Given the description of an element on the screen output the (x, y) to click on. 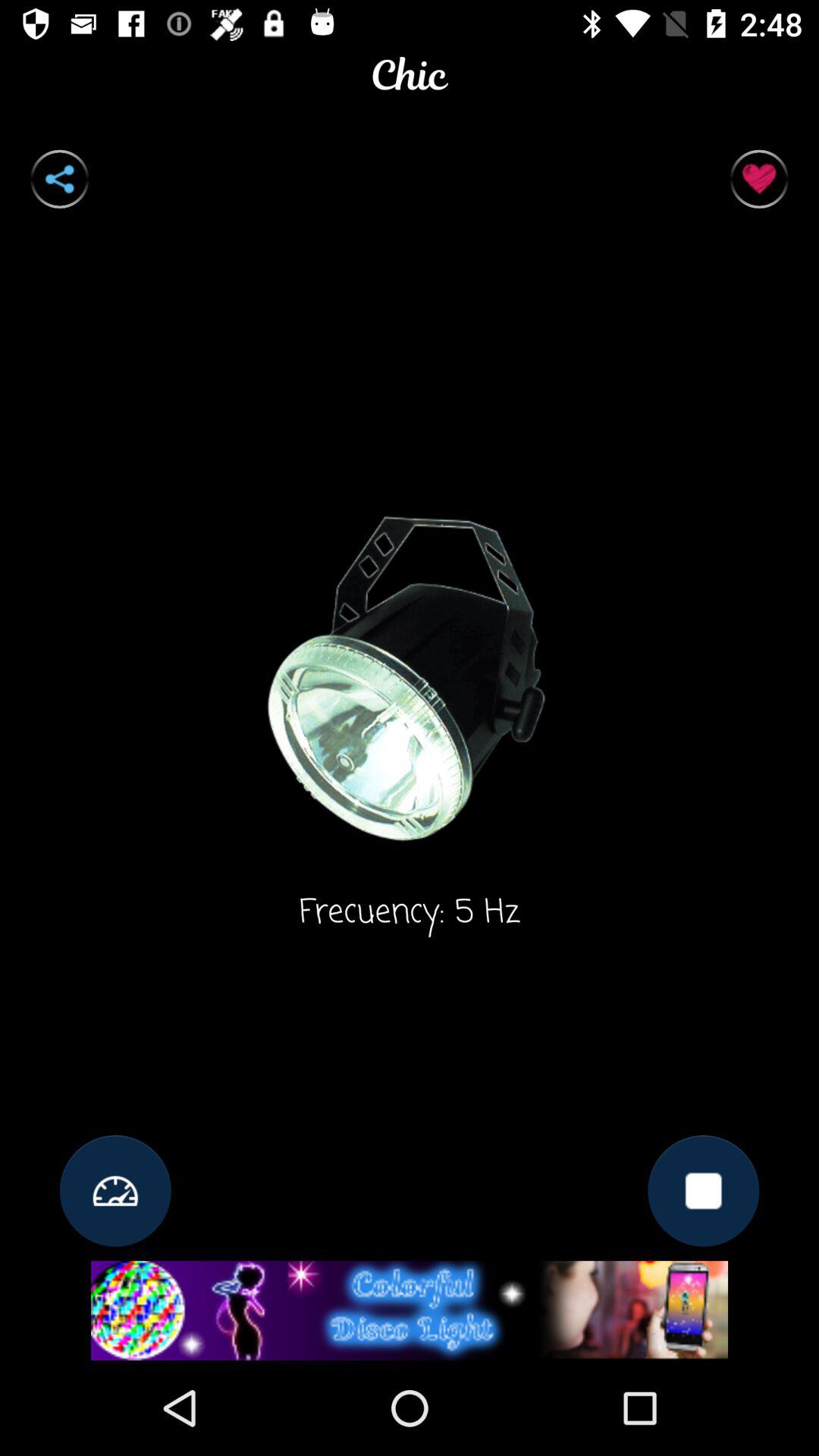
like the item (759, 178)
